Given the description of an element on the screen output the (x, y) to click on. 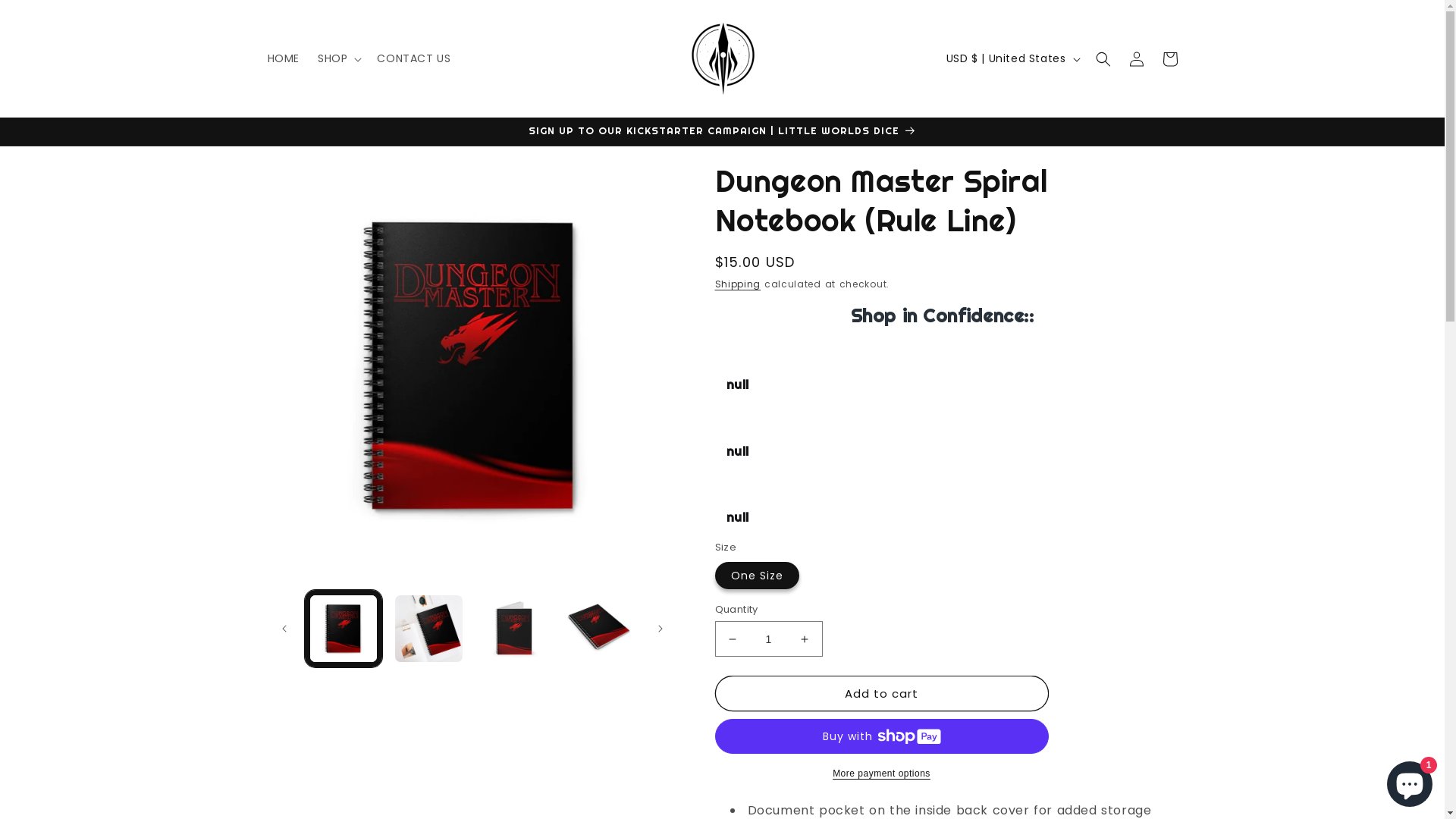
Add to cart Element type: text (881, 693)
CONTACT US Element type: text (413, 58)
USD $ | United States Element type: text (1011, 58)
More payment options Element type: text (881, 773)
Shipping Element type: text (737, 283)
Log in Element type: text (1135, 58)
Cart Element type: text (1169, 58)
HOME Element type: text (282, 58)
Skip to product information Element type: text (312, 178)
SIGN UP TO OUR KICKSTARTER CAMPAIGN | LITTLE WORLDS DICE Element type: text (722, 131)
Shopify online store chat Element type: hover (1409, 780)
